Given the description of an element on the screen output the (x, y) to click on. 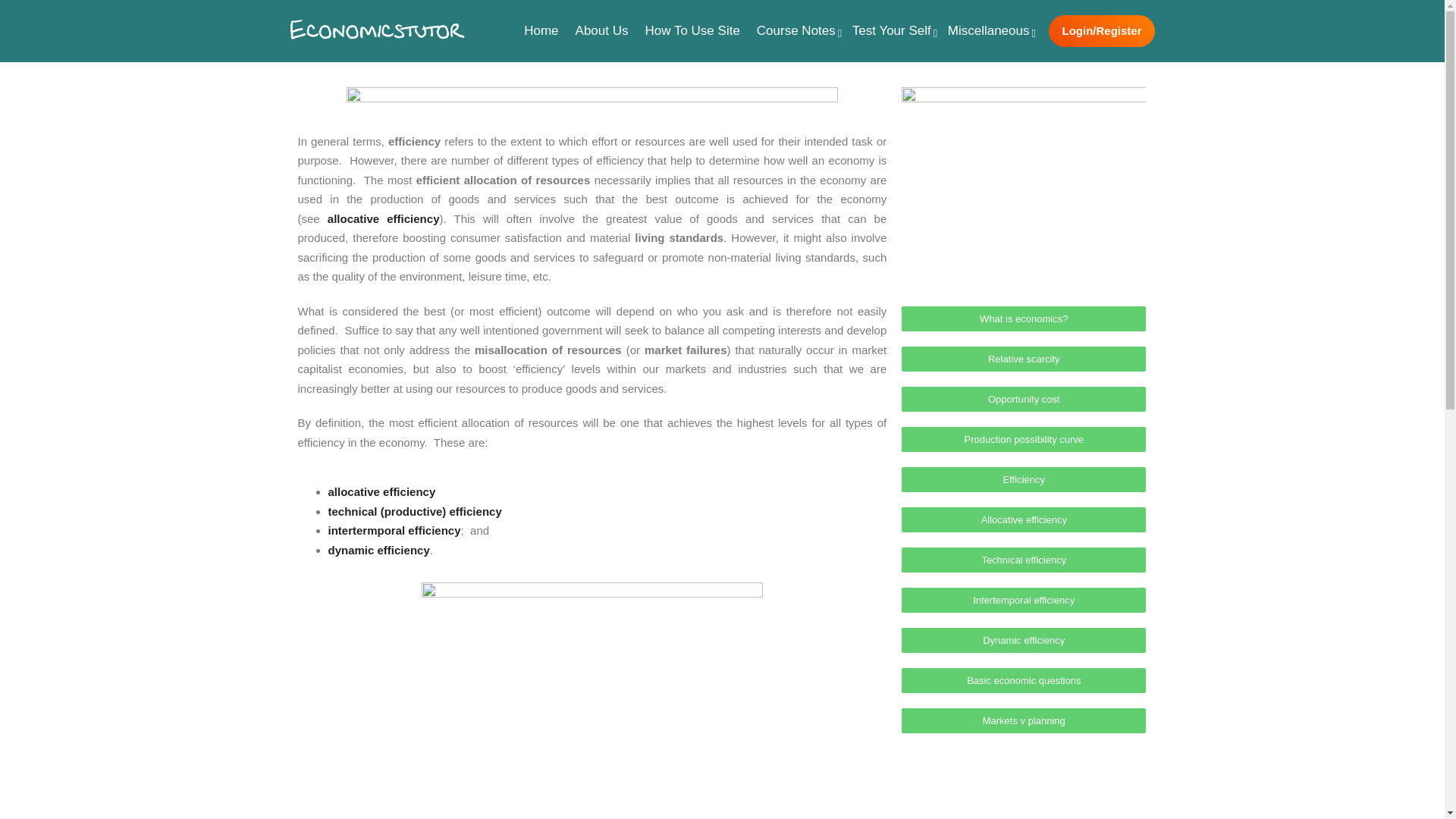
Home (540, 31)
Course Notes (796, 31)
About Us (602, 31)
How To Use Site (692, 31)
